Given the description of an element on the screen output the (x, y) to click on. 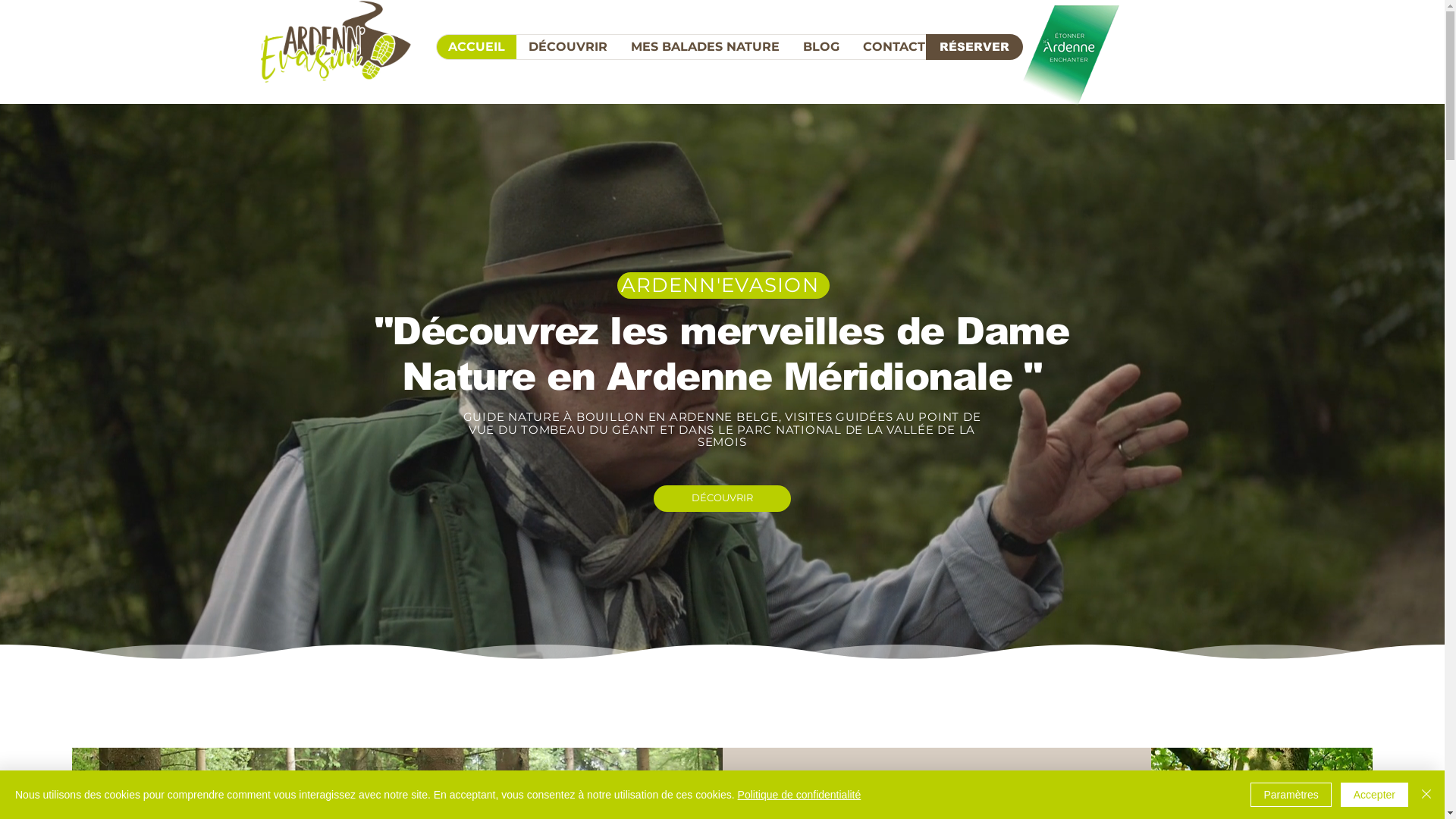
ACCUEIL Element type: text (476, 46)
BLOG Element type: text (820, 46)
MES BALADES NATURE Element type: text (704, 46)
CONTACT Element type: text (893, 46)
Accepter Element type: text (1374, 794)
